Given the description of an element on the screen output the (x, y) to click on. 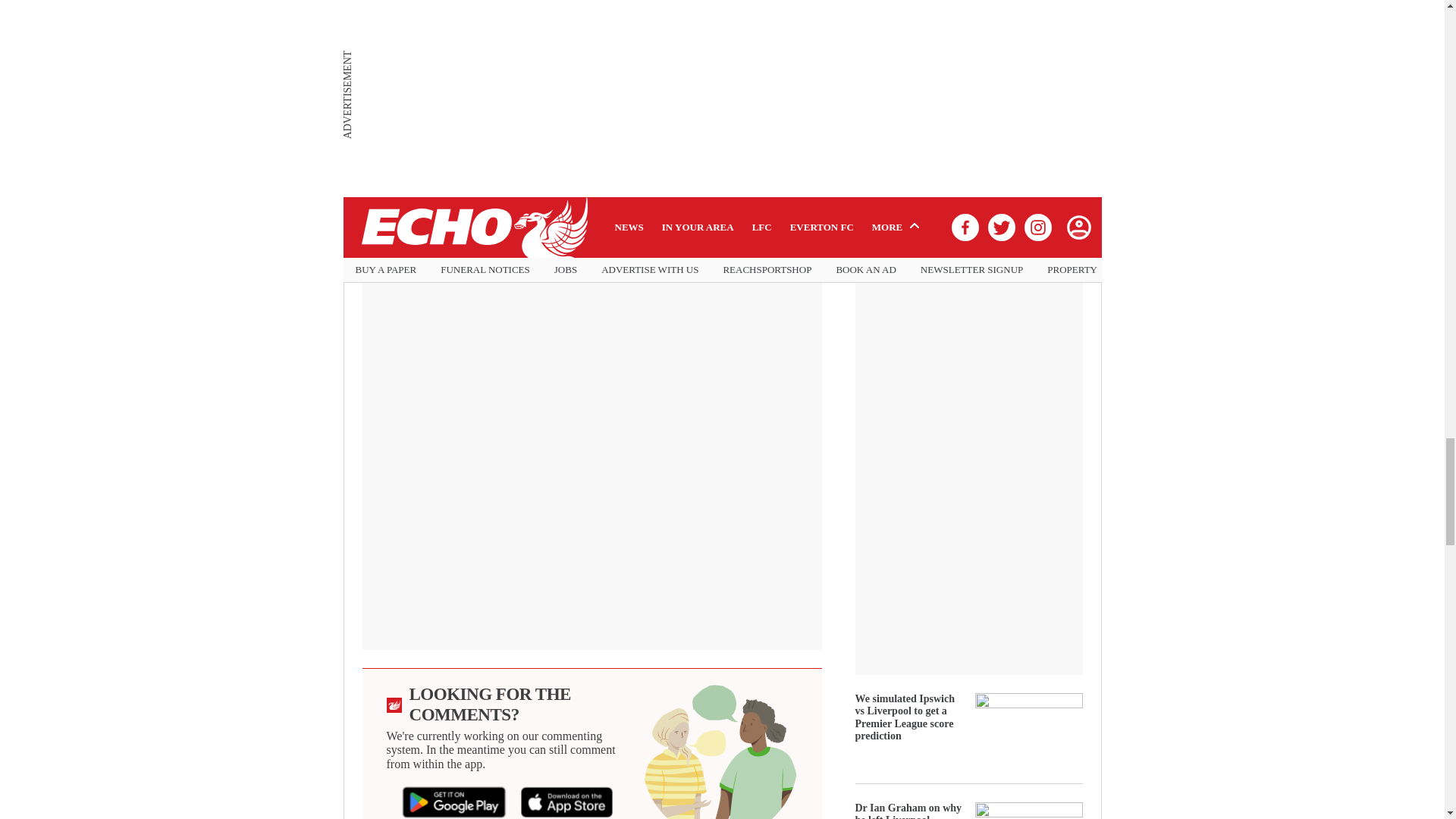
Read Next Article Icon (371, 144)
Read Next Article Icon (371, 71)
Read Next Article Icon (371, 116)
Read Next Article Icon (371, 25)
